Given the description of an element on the screen output the (x, y) to click on. 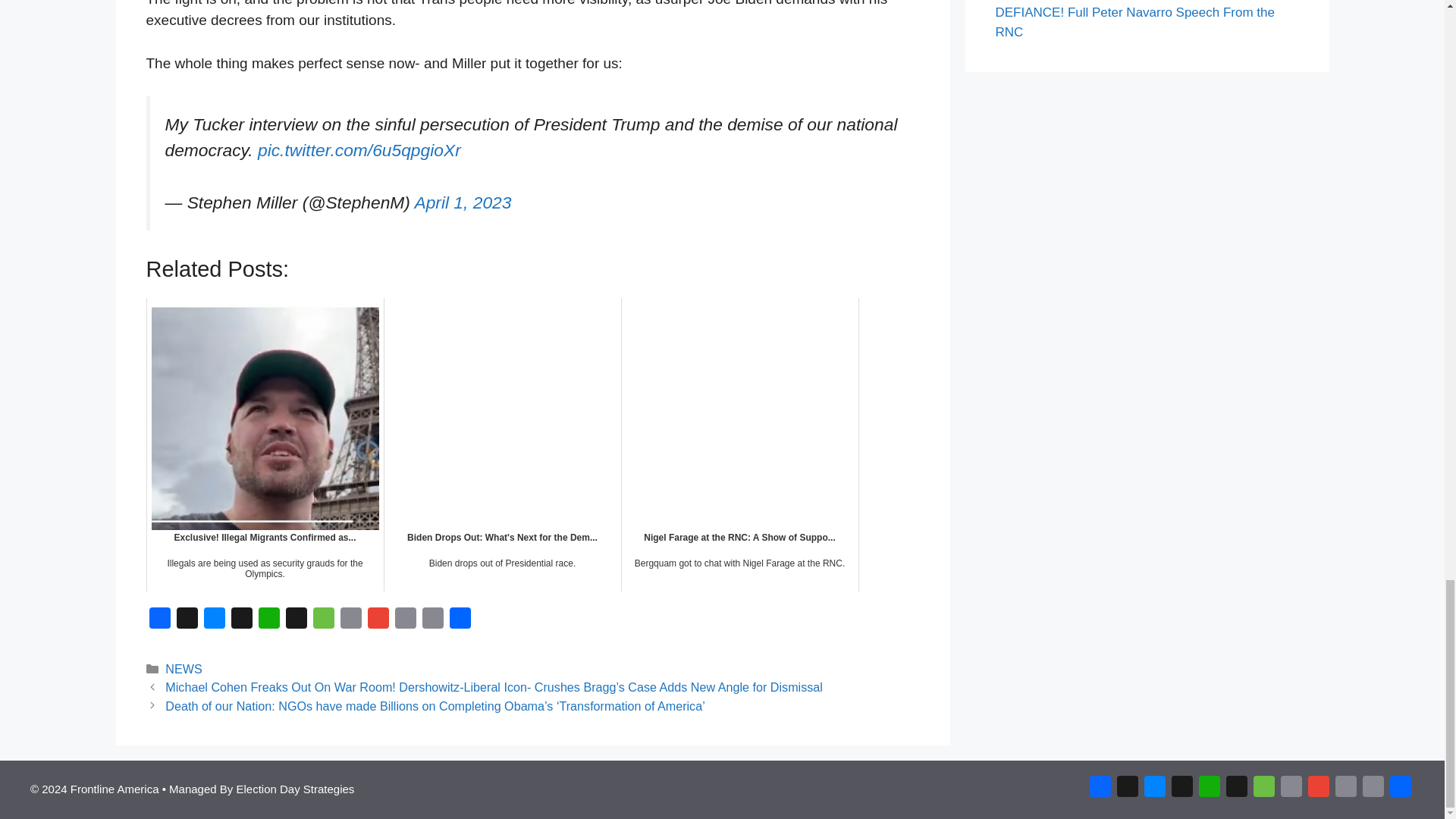
X (186, 621)
Snapchat (295, 621)
April 1, 2023 (462, 202)
Print (432, 621)
Gmail (377, 621)
Message (322, 621)
Share (459, 621)
Threads (240, 621)
Facebook (159, 621)
X (186, 621)
Messenger (213, 621)
Copy Link (405, 621)
WhatsApp (268, 621)
Email (350, 621)
Snapchat (295, 621)
